Given the description of an element on the screen output the (x, y) to click on. 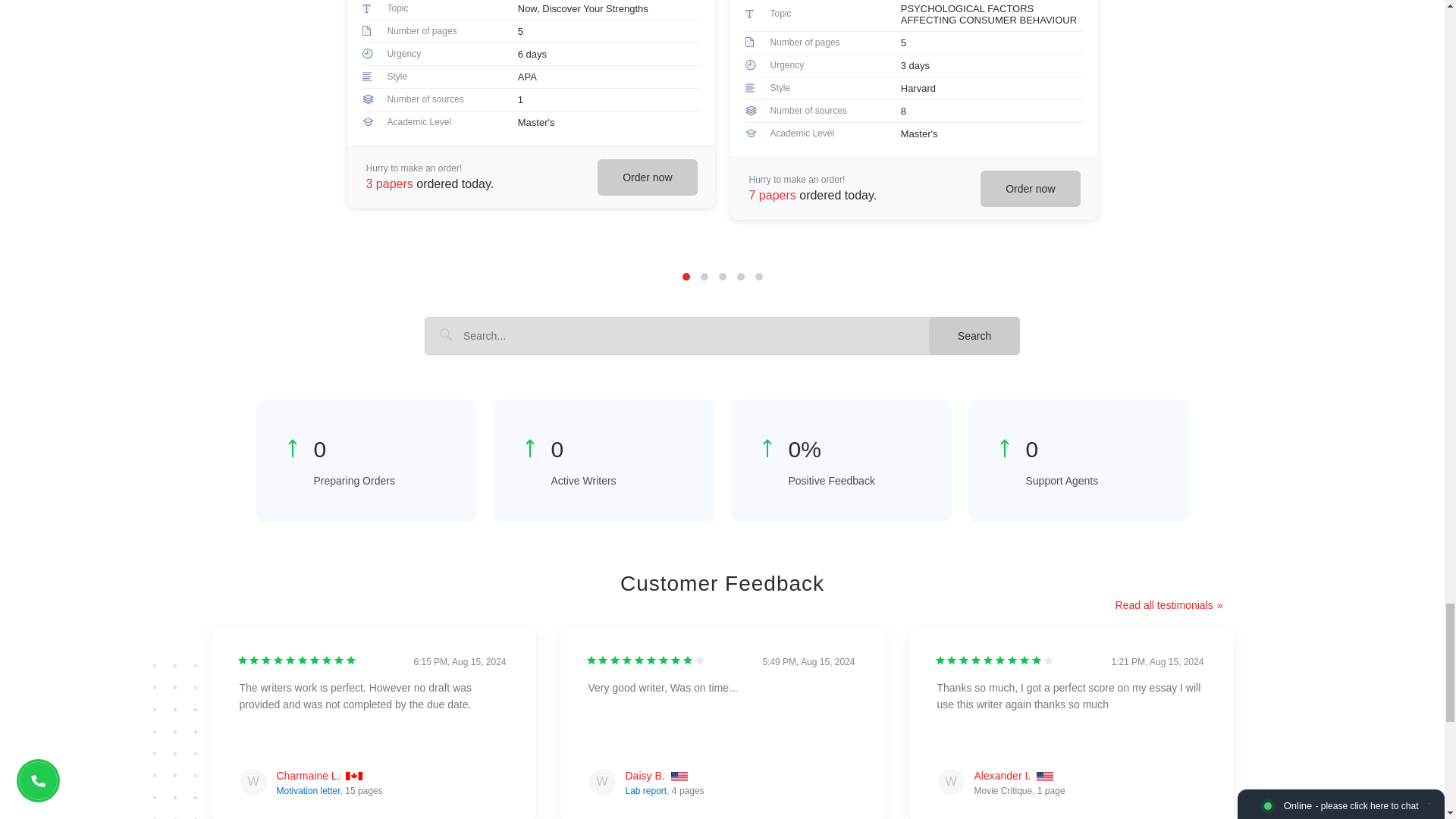
Canada (354, 777)
USA (1044, 777)
USA (679, 777)
Search (974, 335)
